Given the description of an element on the screen output the (x, y) to click on. 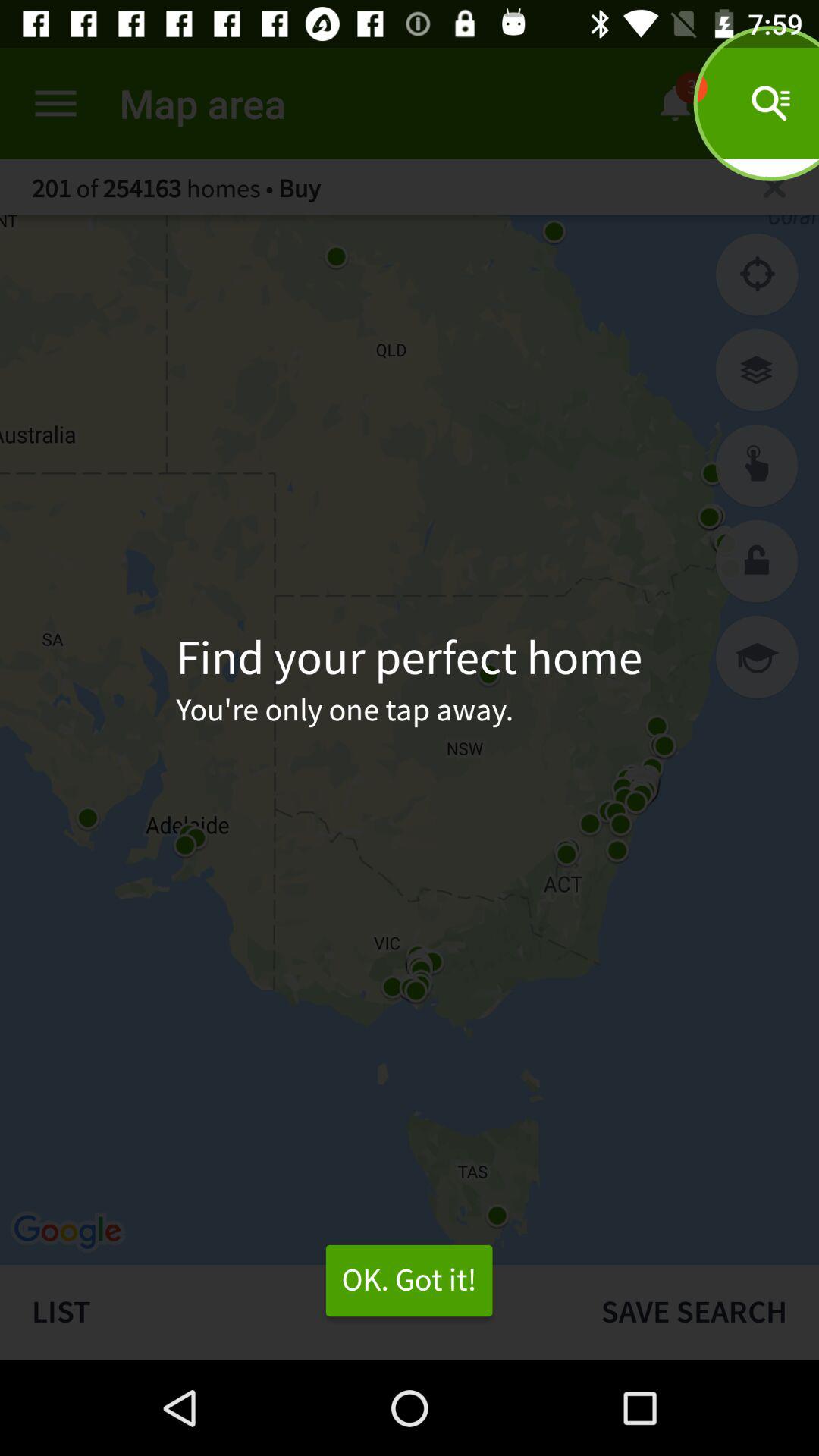
search location (774, 186)
